Given the description of an element on the screen output the (x, y) to click on. 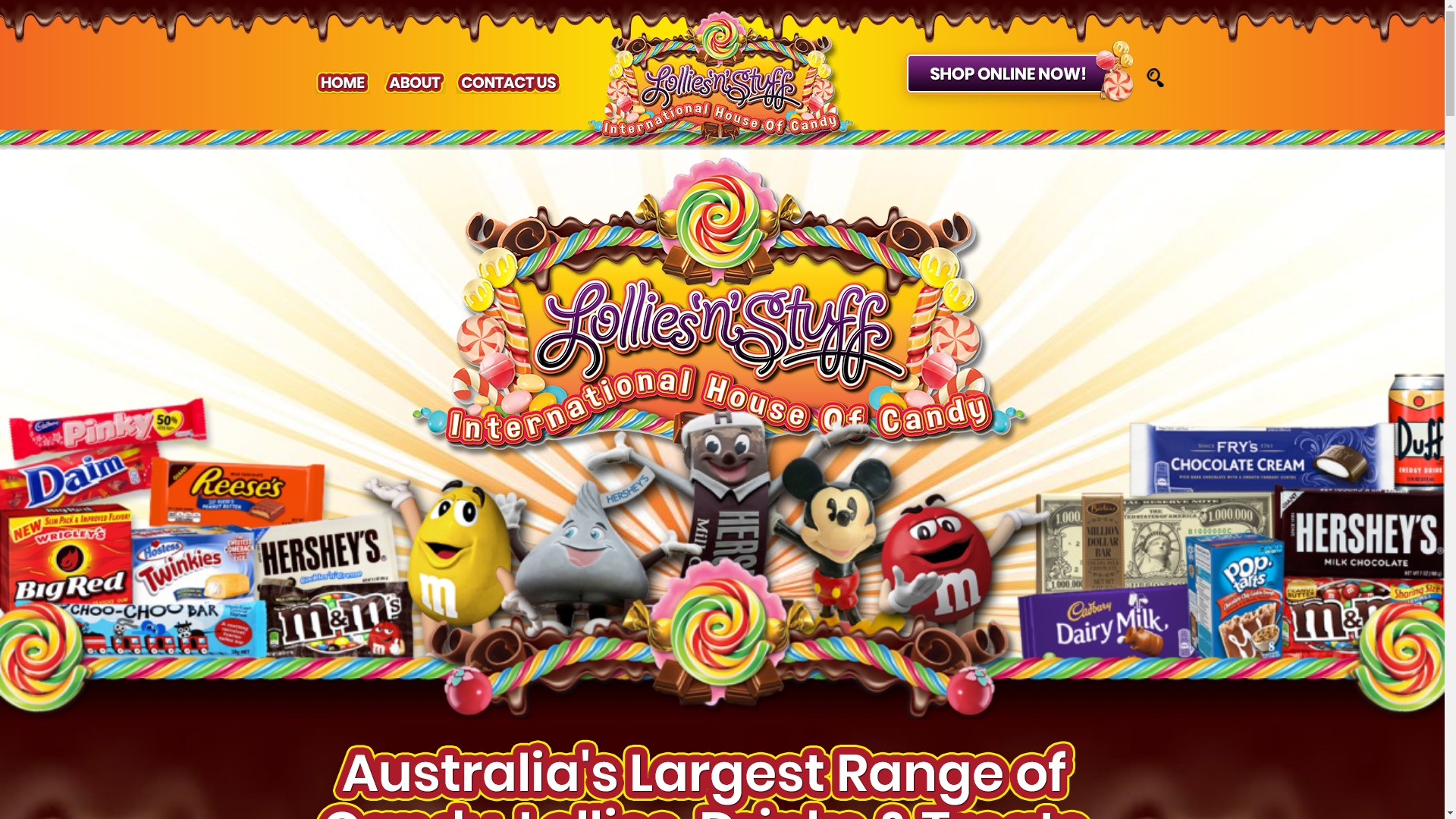
Contact Us Element type: text (499, 82)
Home Element type: text (334, 82)
About Element type: text (406, 82)
